Given the description of an element on the screen output the (x, y) to click on. 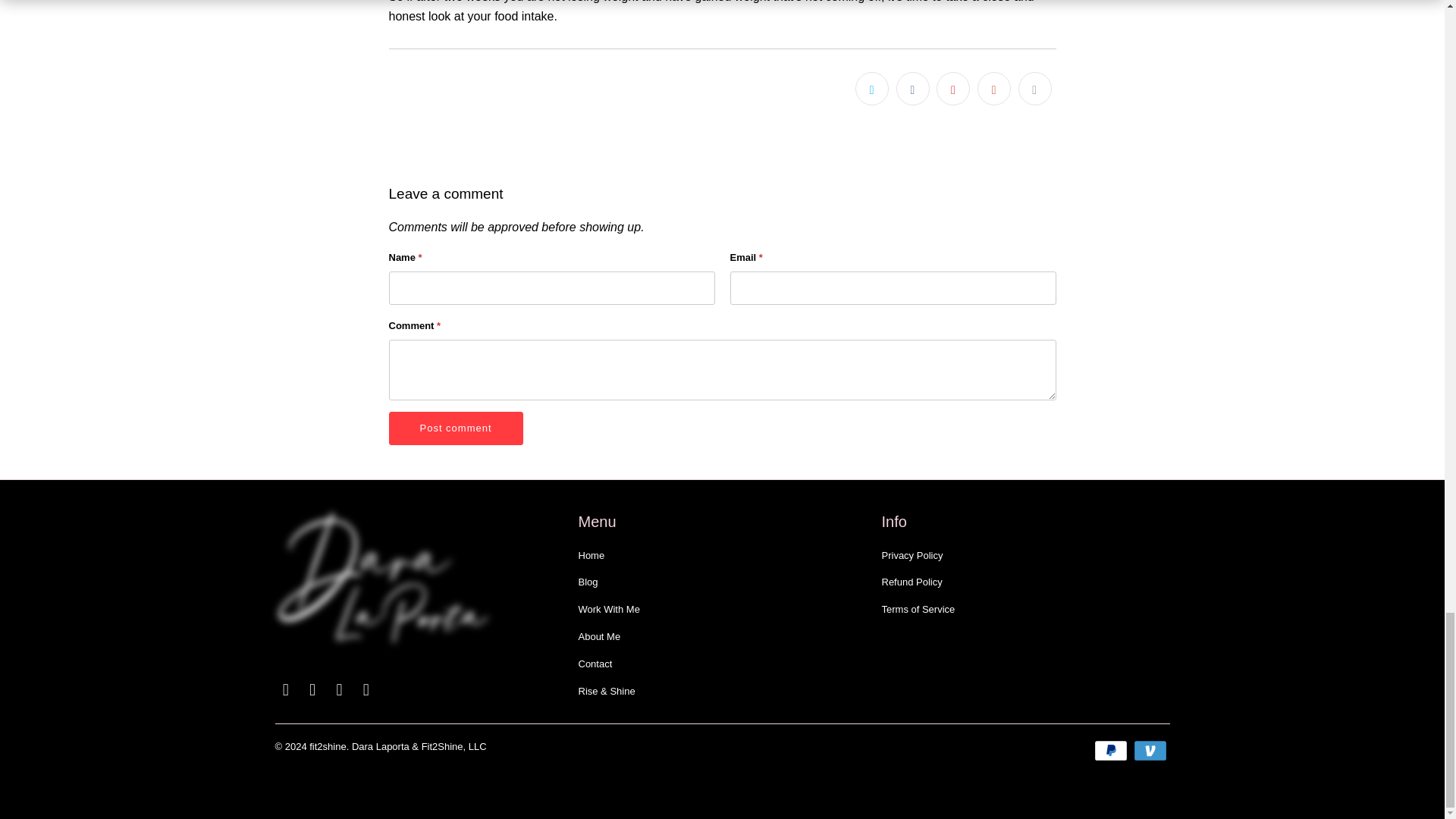
Share this on Pinterest (952, 88)
Share this on Facebook (913, 88)
Venmo (1150, 750)
Share this on Twitter (872, 88)
Post comment (455, 428)
PayPal (1112, 750)
